Given the description of an element on the screen output the (x, y) to click on. 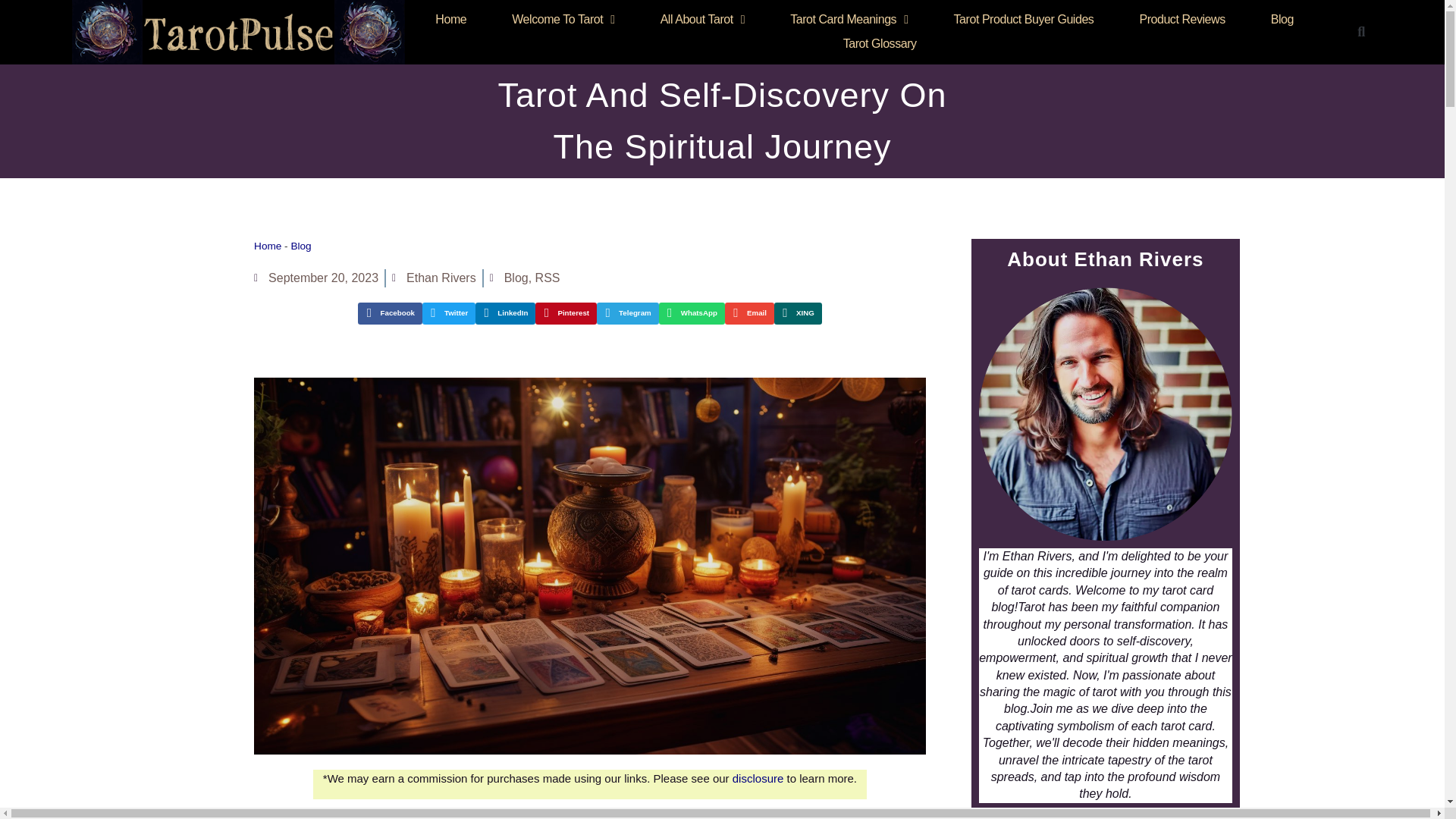
Tarot Glossary (879, 43)
Blog (1282, 19)
Product Reviews (1181, 19)
Tarot Card Meanings (849, 19)
Home (451, 19)
All About Tarot (702, 19)
Welcome To Tarot (562, 19)
Tarot Product Buyer Guides (1024, 19)
